Given the description of an element on the screen output the (x, y) to click on. 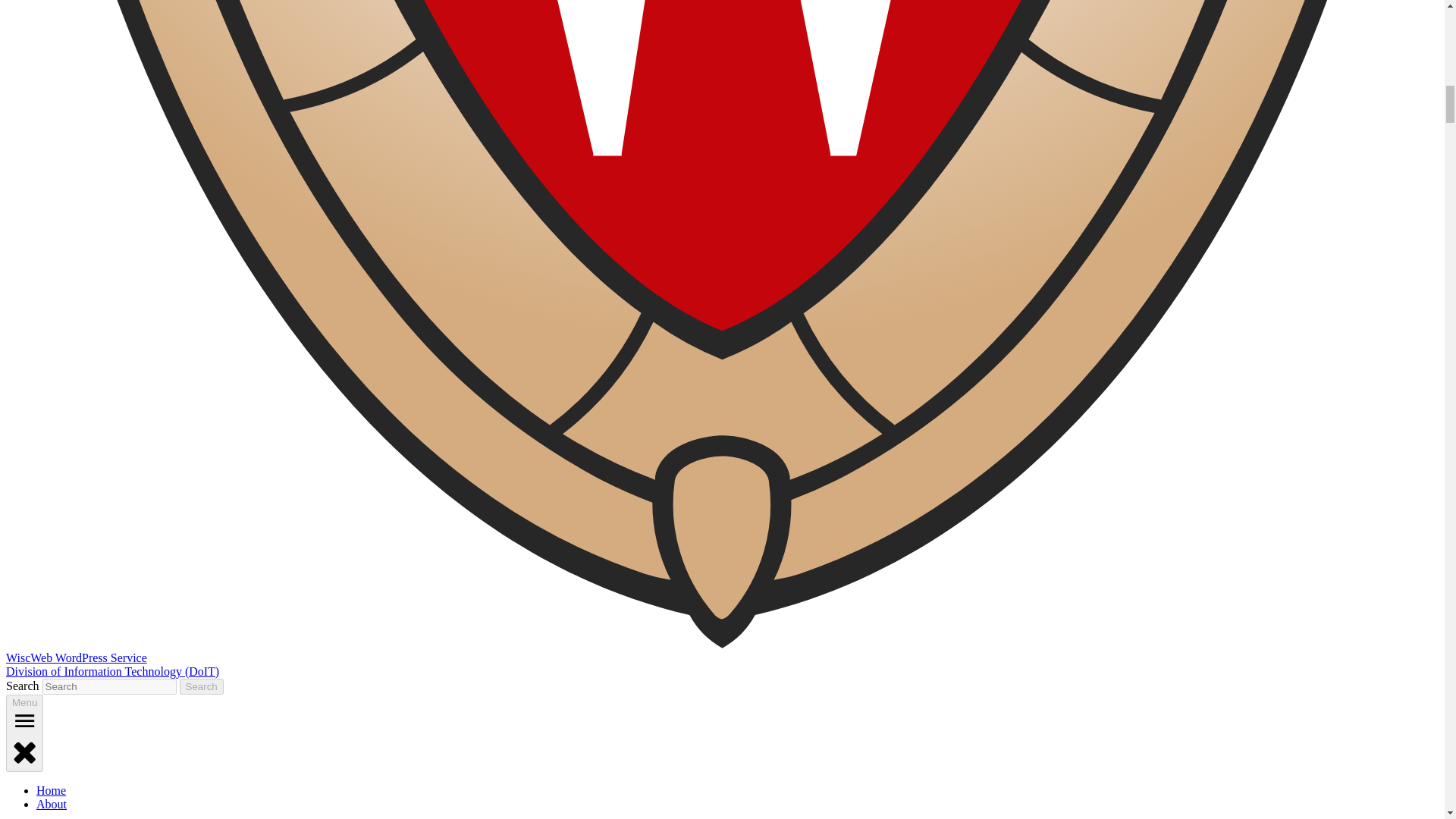
Search (201, 686)
Search (201, 686)
WiscWeb WordPress Service (76, 657)
Home (50, 789)
open menu (24, 720)
Search (201, 686)
